Given the description of an element on the screen output the (x, y) to click on. 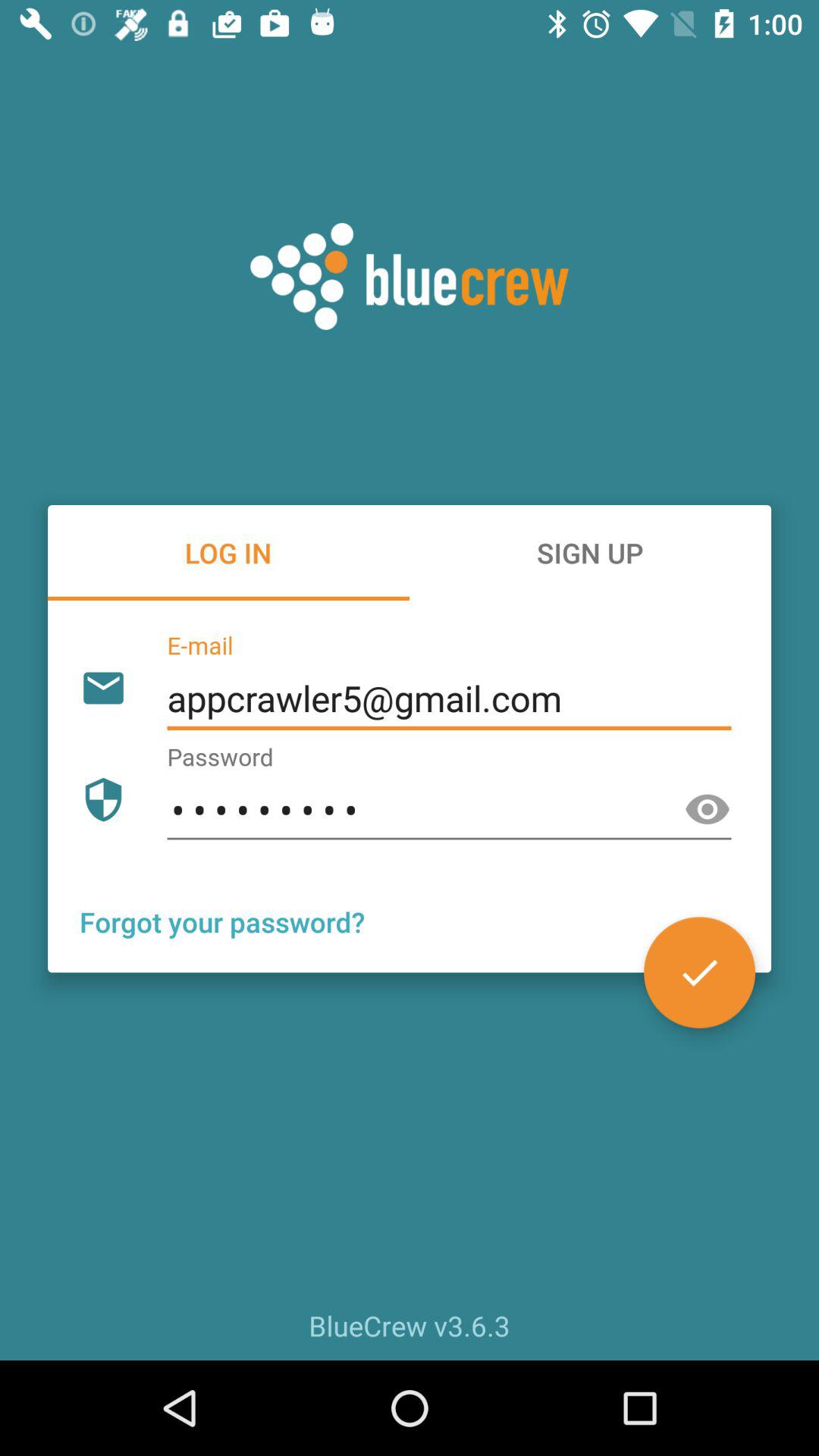
see password botton (707, 809)
